Given the description of an element on the screen output the (x, y) to click on. 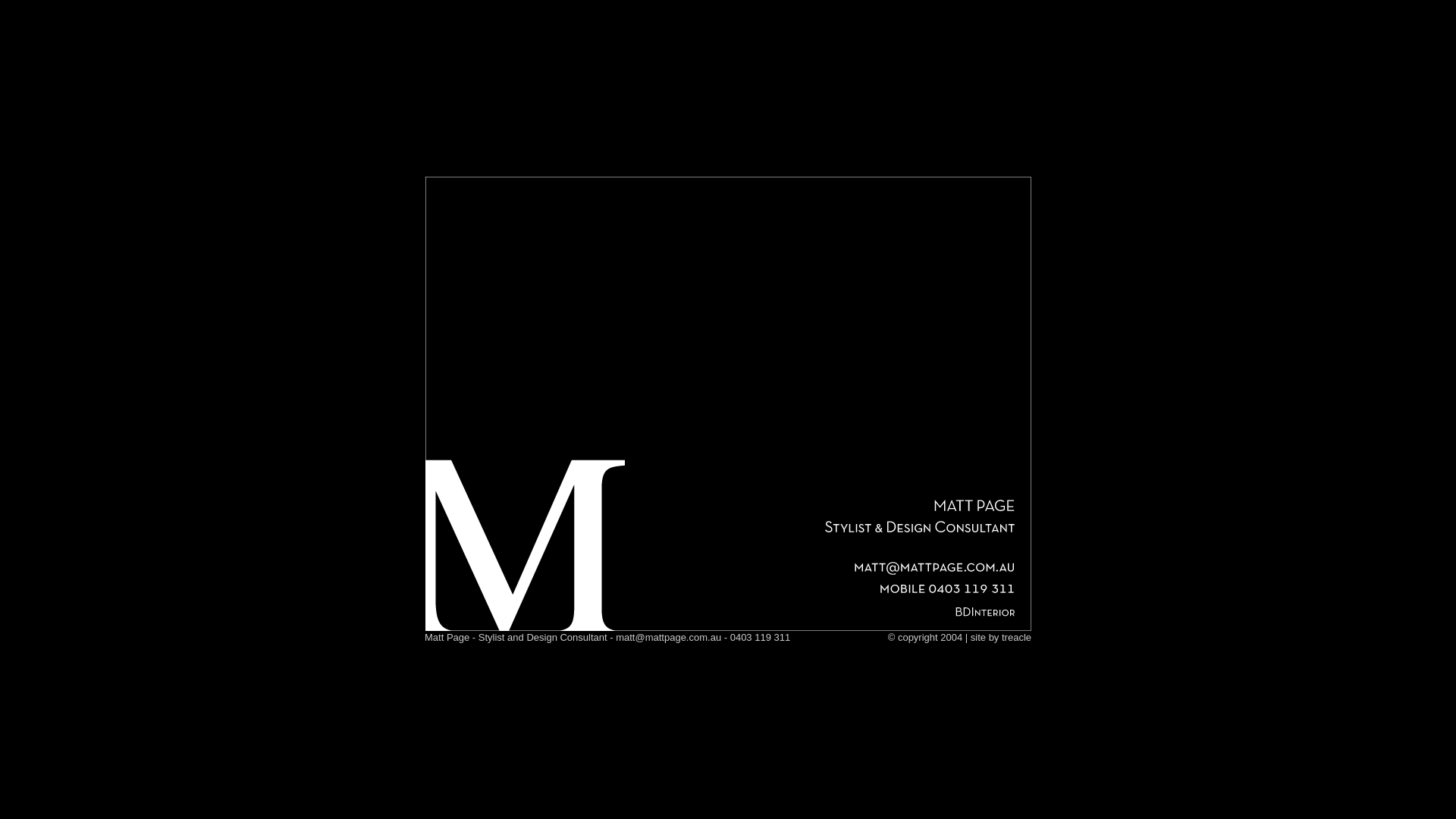
site by treacle Element type: text (1000, 637)
matt@mattpage.com.au Element type: text (668, 637)
